Given the description of an element on the screen output the (x, y) to click on. 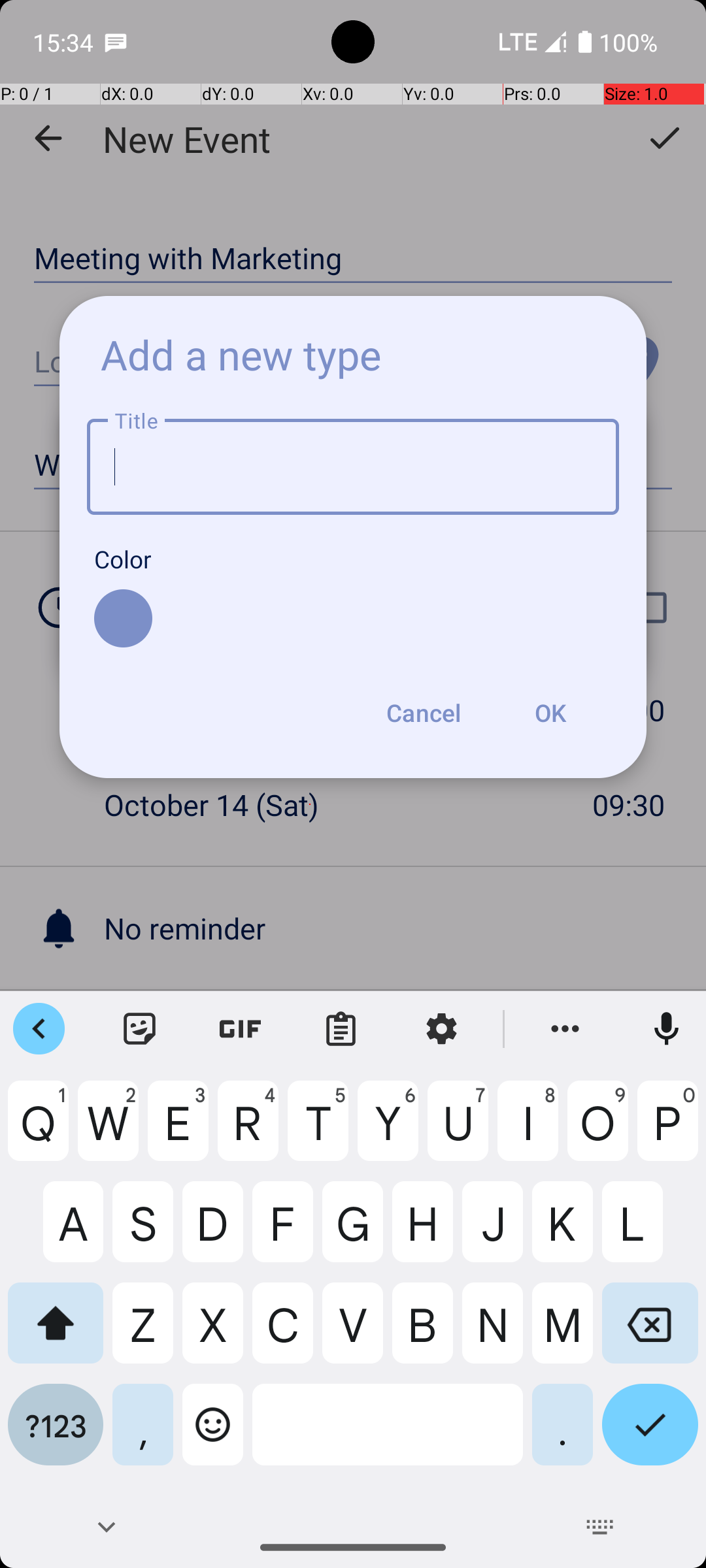
Add a new type Element type: android.widget.TextView (240, 354)
